Given the description of an element on the screen output the (x, y) to click on. 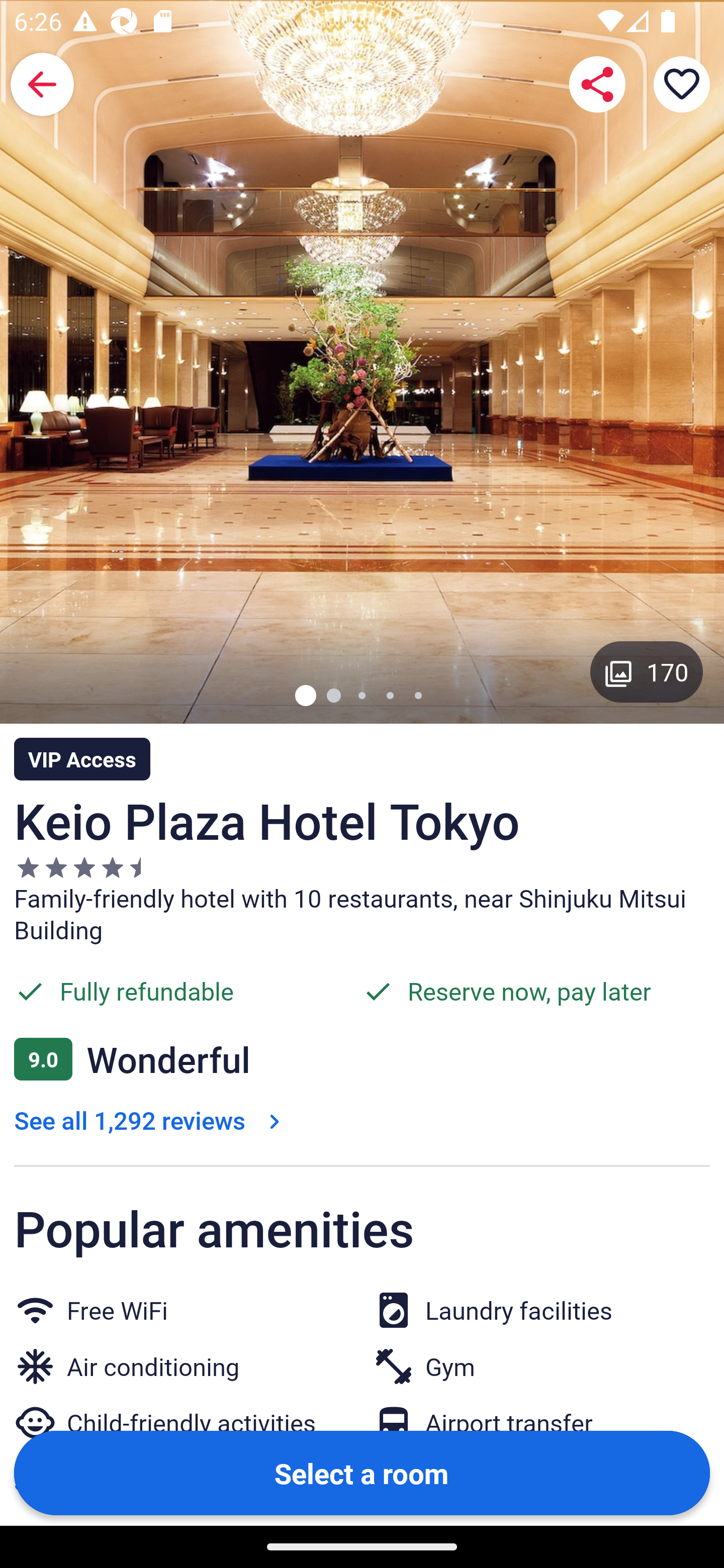
Back (42, 84)
Save property to a trip (681, 84)
Share Keio Plaza Hotel Tokyo (597, 84)
Gallery button with 170 images (646, 671)
See all 1,292 reviews See all 1,292 reviews Link (150, 1119)
Select a room Button Select a room (361, 1472)
